Given the description of an element on the screen output the (x, y) to click on. 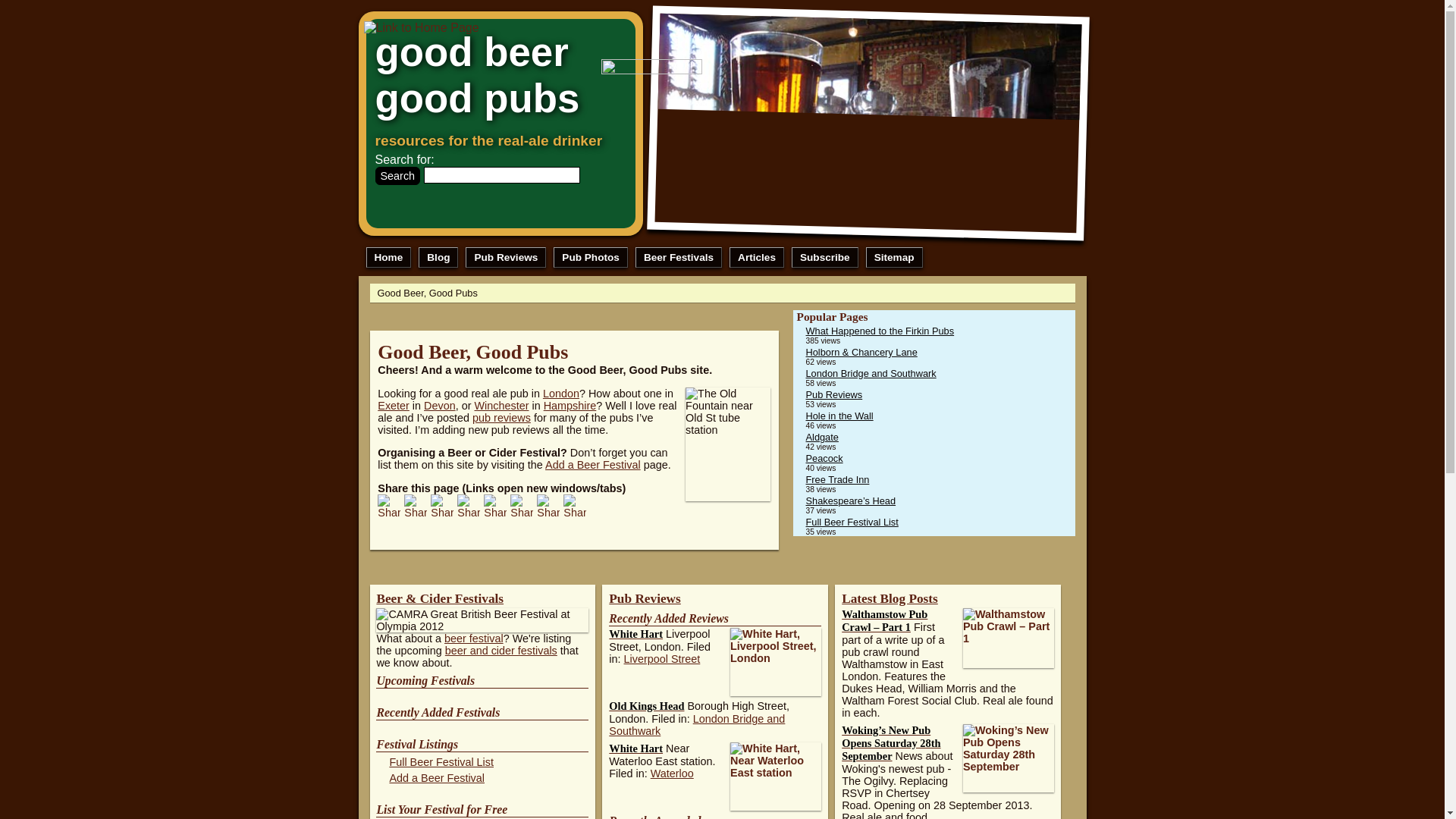
pub reviews (501, 417)
Add a Beer Festival (592, 464)
Blog (438, 257)
Full Beer Festival List (851, 521)
Beer Festivals (678, 257)
Winchester (501, 405)
Sitemap (894, 257)
Link to Home Page (488, 80)
Pub Reviews (505, 257)
Full Beer Festival List (440, 761)
